Given the description of an element on the screen output the (x, y) to click on. 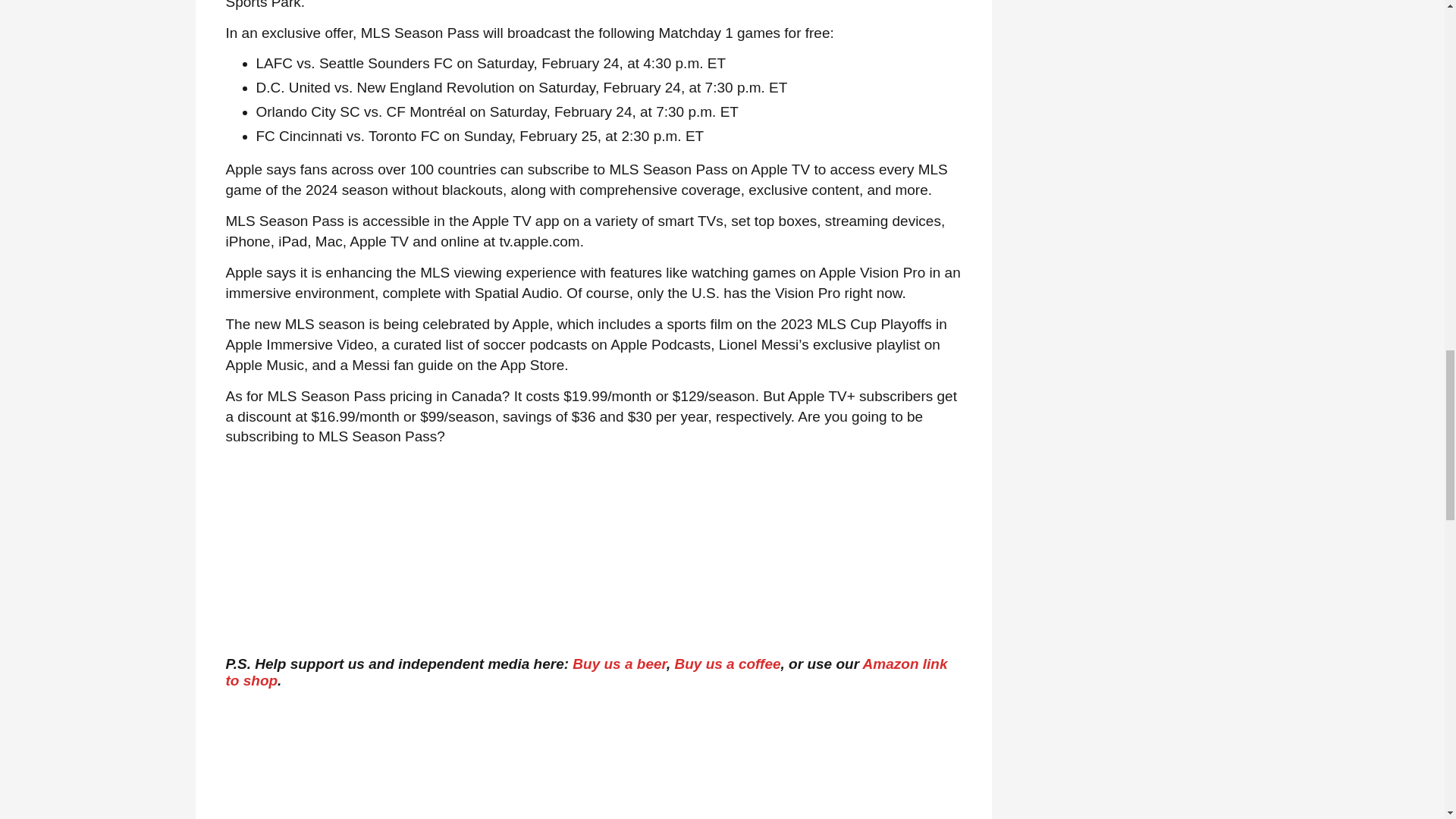
Buy us a coffee (727, 663)
Buy us a beer (619, 663)
